Given the description of an element on the screen output the (x, y) to click on. 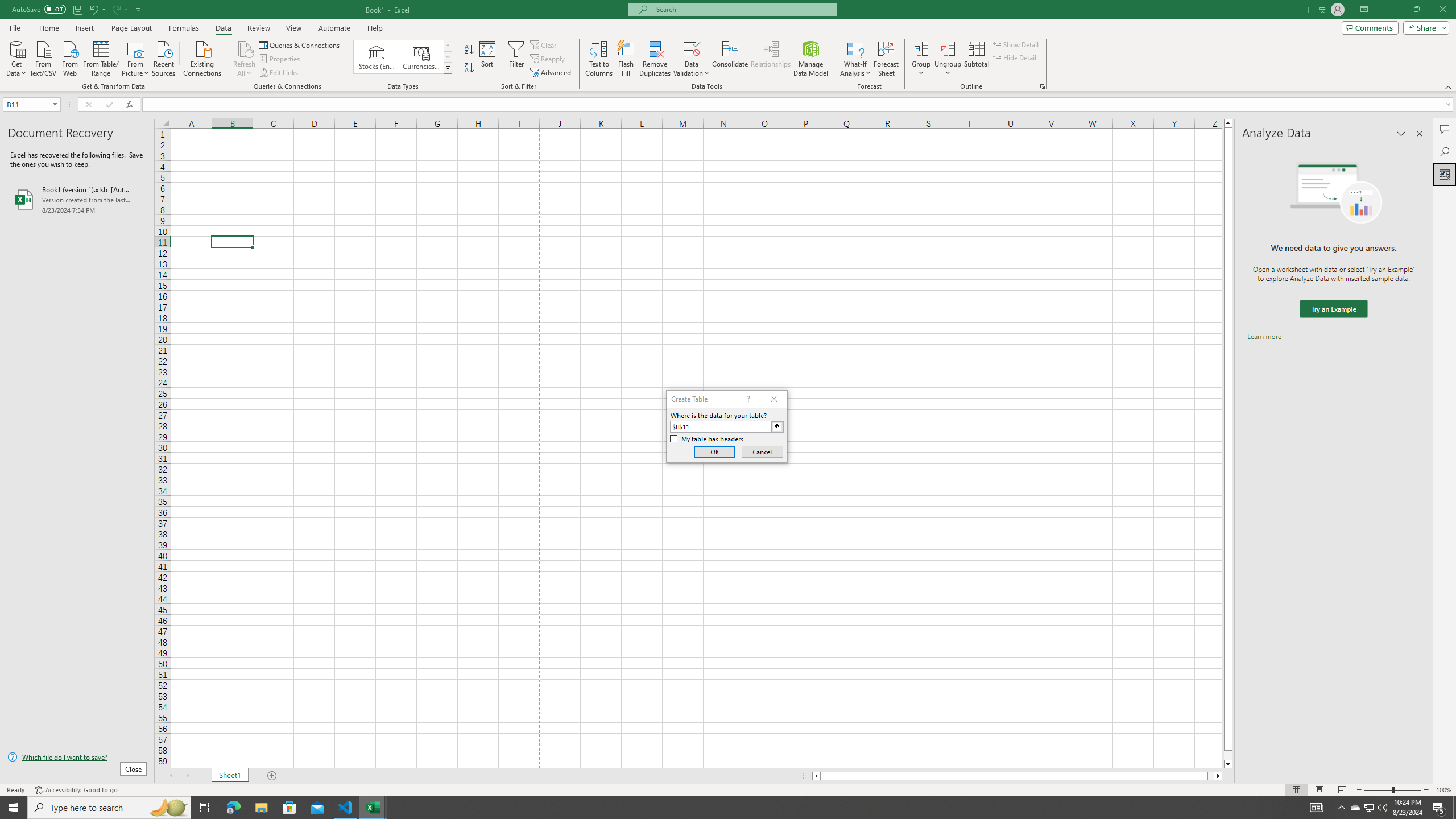
Hide Detail (1014, 56)
Refresh All (244, 48)
Minimize (1390, 9)
Get Data (16, 57)
Clear (544, 44)
Consolidate... (729, 58)
Share (1423, 27)
Insert (83, 28)
Help (374, 28)
Reapply (548, 58)
View (293, 28)
Page right (1211, 775)
Edit Links (279, 72)
We need data to give you answers. Try an Example (1333, 308)
Ungroup... (947, 48)
